Given the description of an element on the screen output the (x, y) to click on. 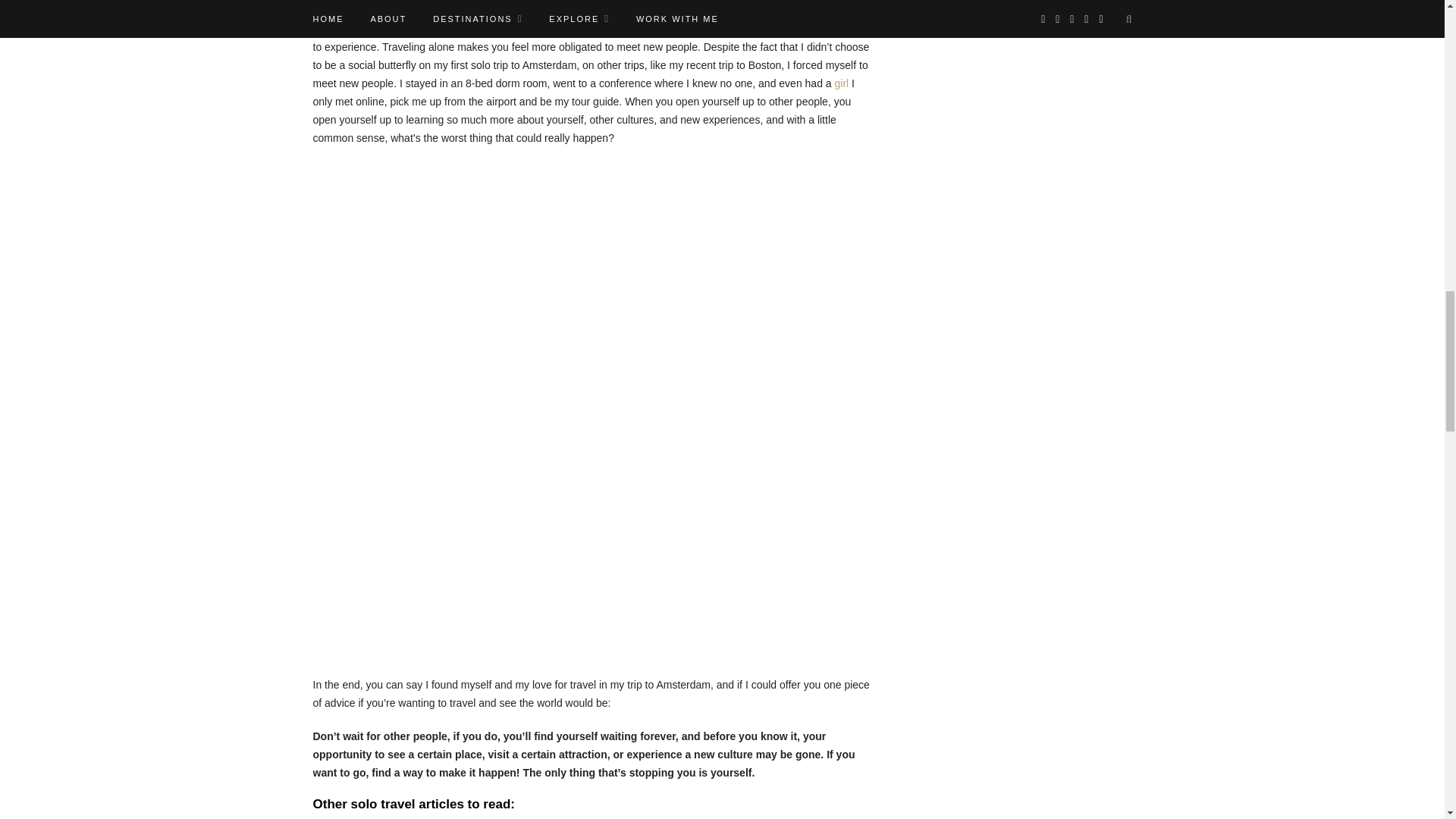
girl (841, 82)
